Given the description of an element on the screen output the (x, y) to click on. 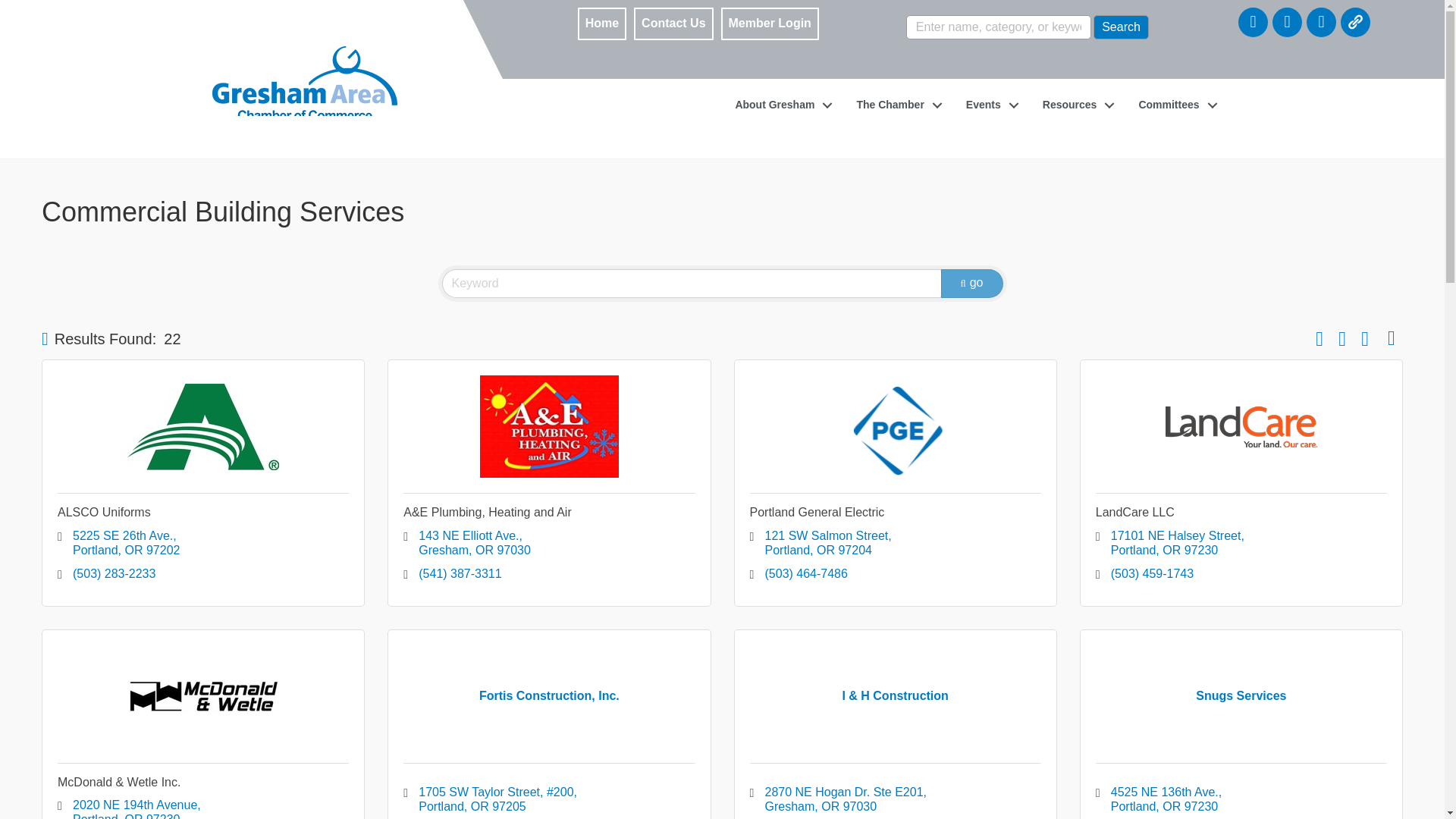
Contact Us (673, 23)
Search (1120, 27)
The Chamber (895, 105)
Home (601, 23)
Search (1120, 27)
gresham-area-chamber-logo-sm (304, 92)
About Gresham (779, 105)
link-to-home-page (280, 54)
Search (1120, 27)
Member Login (769, 23)
